Given the description of an element on the screen output the (x, y) to click on. 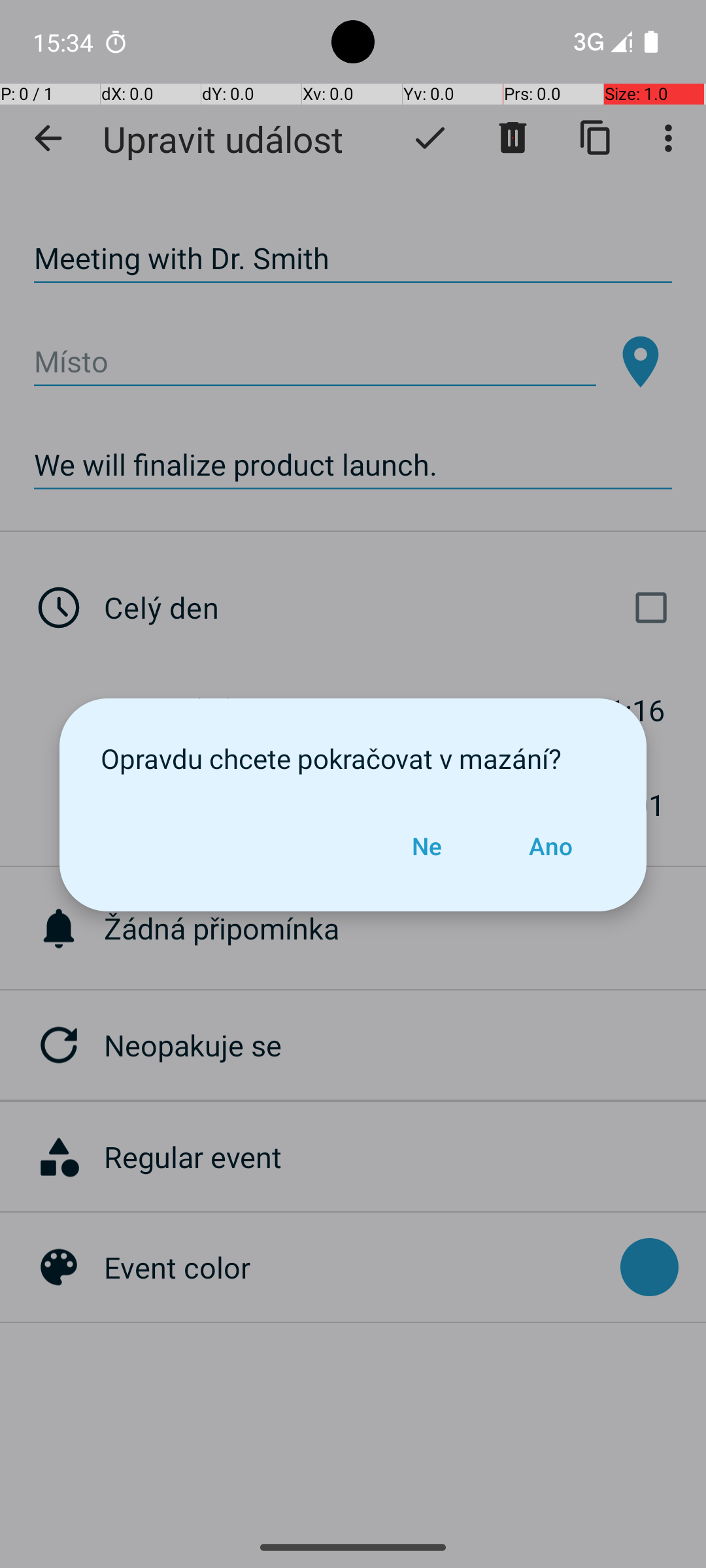
Opravdu chcete pokračovat v mazání? Element type: android.widget.TextView (352, 757)
Ne Element type: android.widget.Button (426, 845)
Ano Element type: android.widget.Button (550, 845)
